Given the description of an element on the screen output the (x, y) to click on. 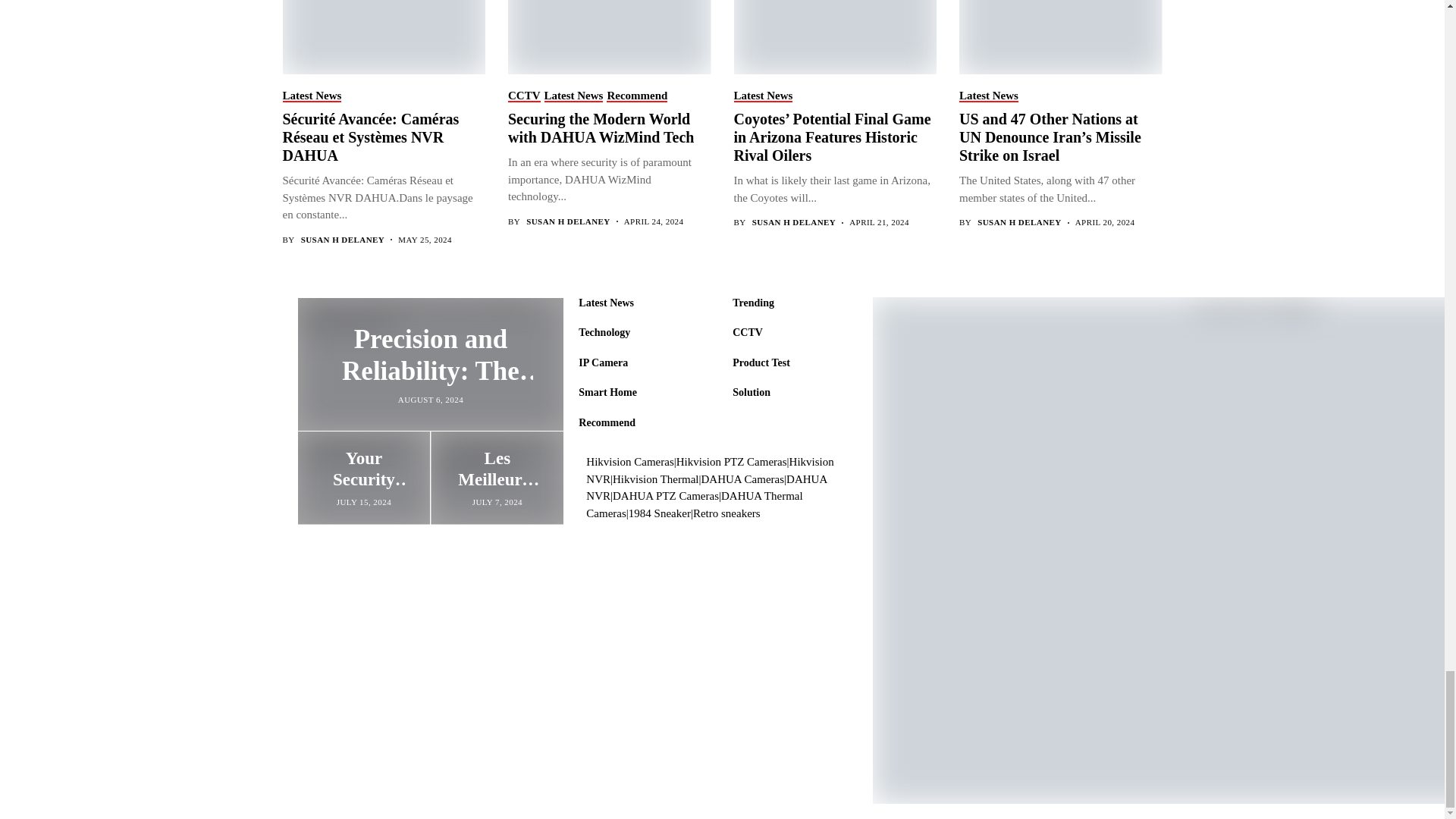
Securing the Modern World with DAHUA WizMind Tech (608, 37)
